Given the description of an element on the screen output the (x, y) to click on. 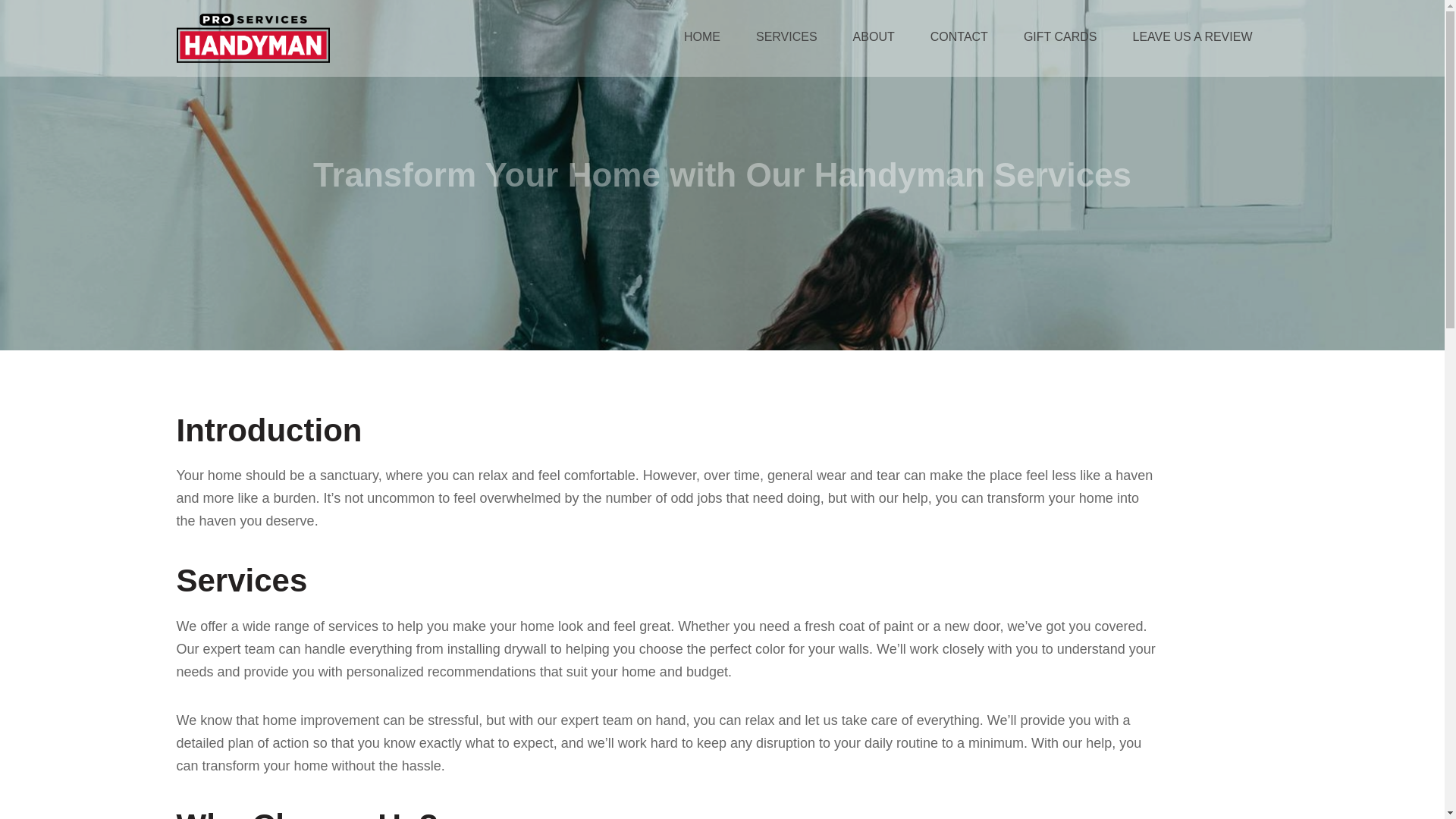
GIFT CARDS (1060, 37)
ABOUT (874, 37)
LEAVE US A REVIEW (1192, 37)
SERVICES (785, 37)
HOME (702, 37)
CONTACT (959, 37)
